Given the description of an element on the screen output the (x, y) to click on. 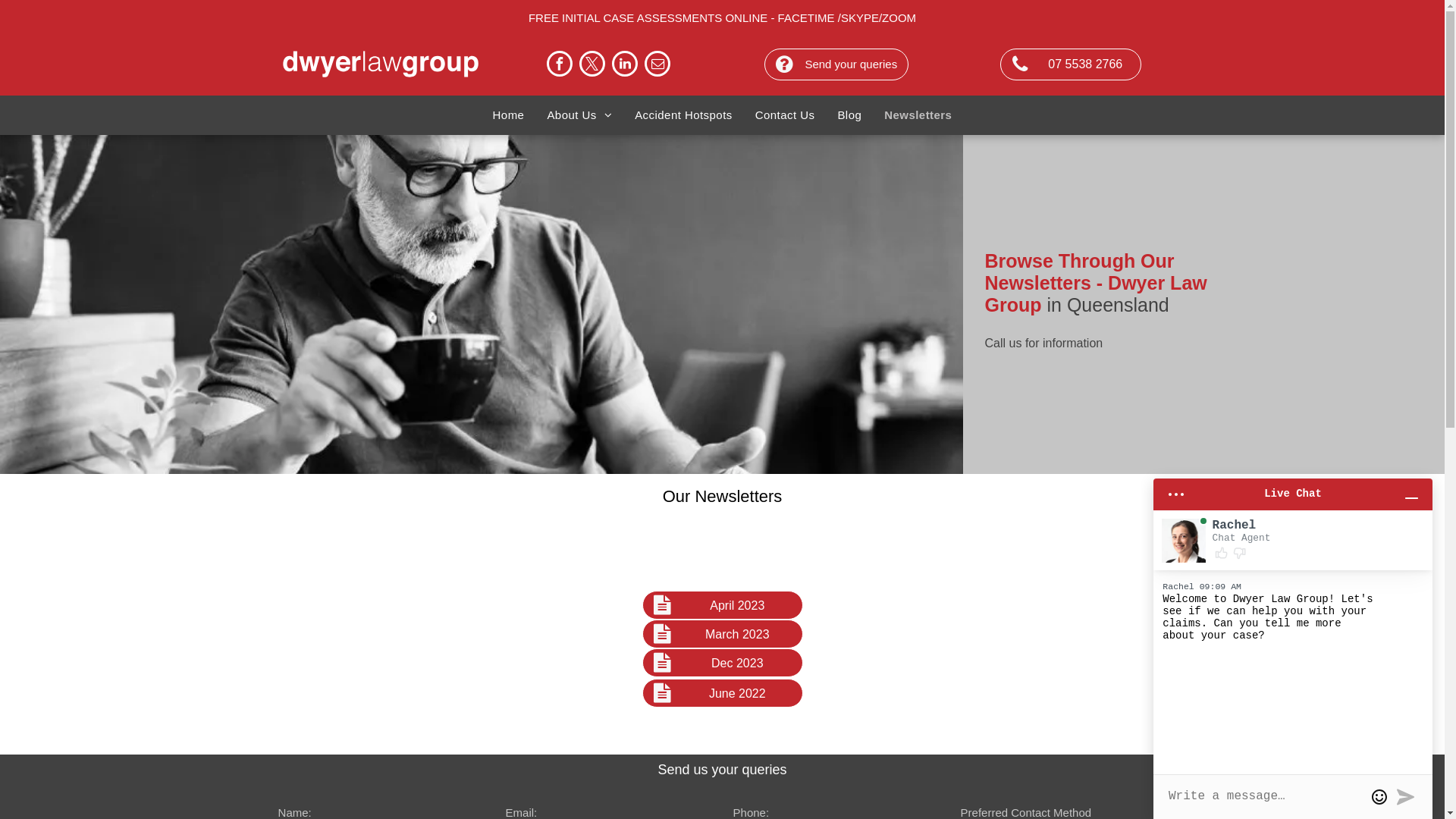
07 5538 2766 Element type: text (1069, 64)
April 2023 Element type: text (721, 603)
Accident Hotspots Element type: text (683, 114)
March 2023 Element type: text (721, 632)
June 2022 Element type: text (721, 691)
Contact Us Element type: text (784, 114)
Send your queries Element type: text (836, 64)
Newsletters Element type: text (917, 114)
Dec 2023 Element type: text (721, 661)
About Us Element type: text (579, 114)
Blog Element type: text (848, 114)
Home Element type: text (508, 114)
